Given the description of an element on the screen output the (x, y) to click on. 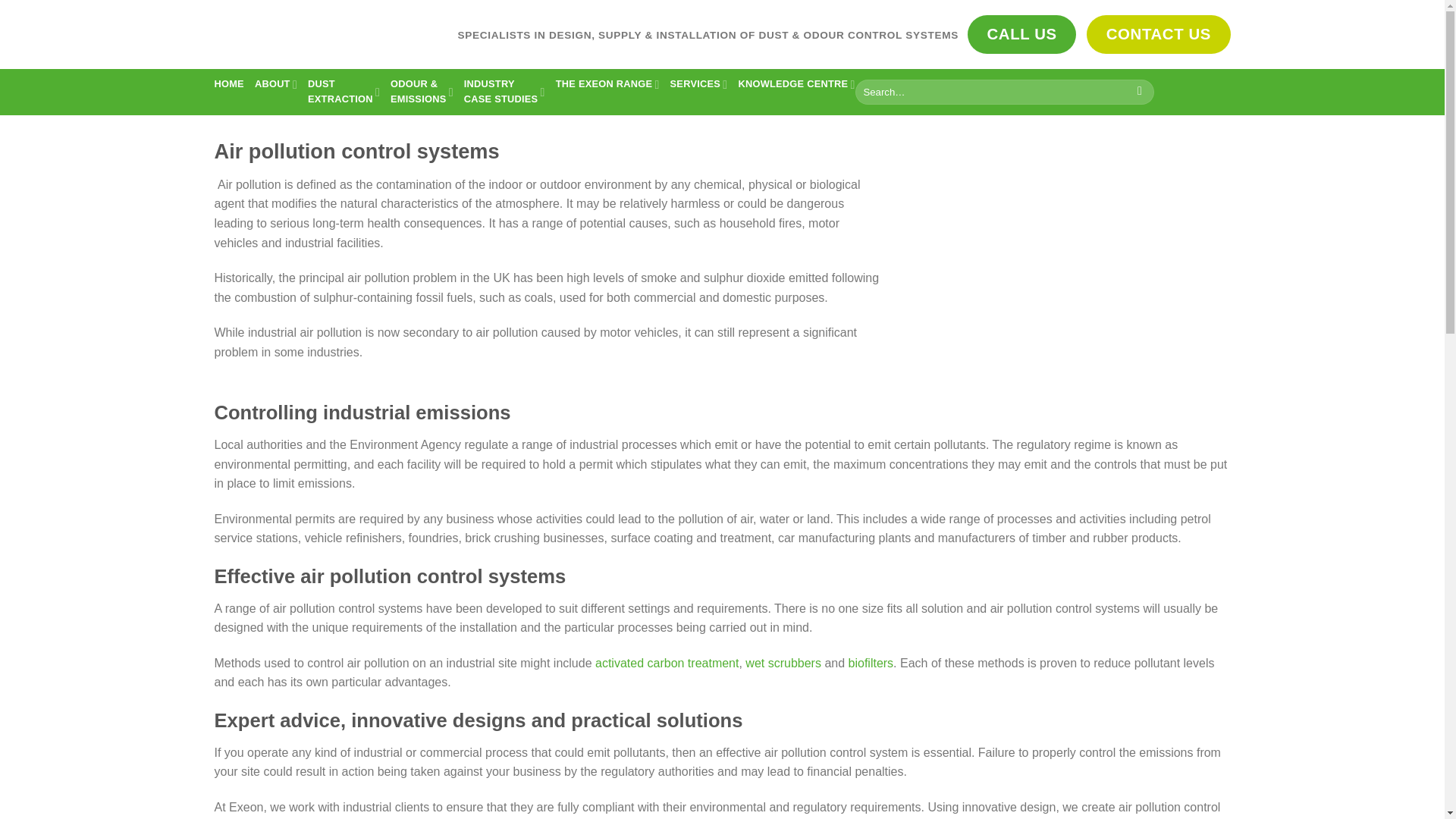
KNOWLEDGE CENTRE (796, 83)
SERVICES (343, 91)
HOME (698, 83)
CONTACT US (228, 83)
CALL US (1158, 34)
ABOUT (1021, 34)
THE EXEON RANGE (504, 91)
